Given the description of an element on the screen output the (x, y) to click on. 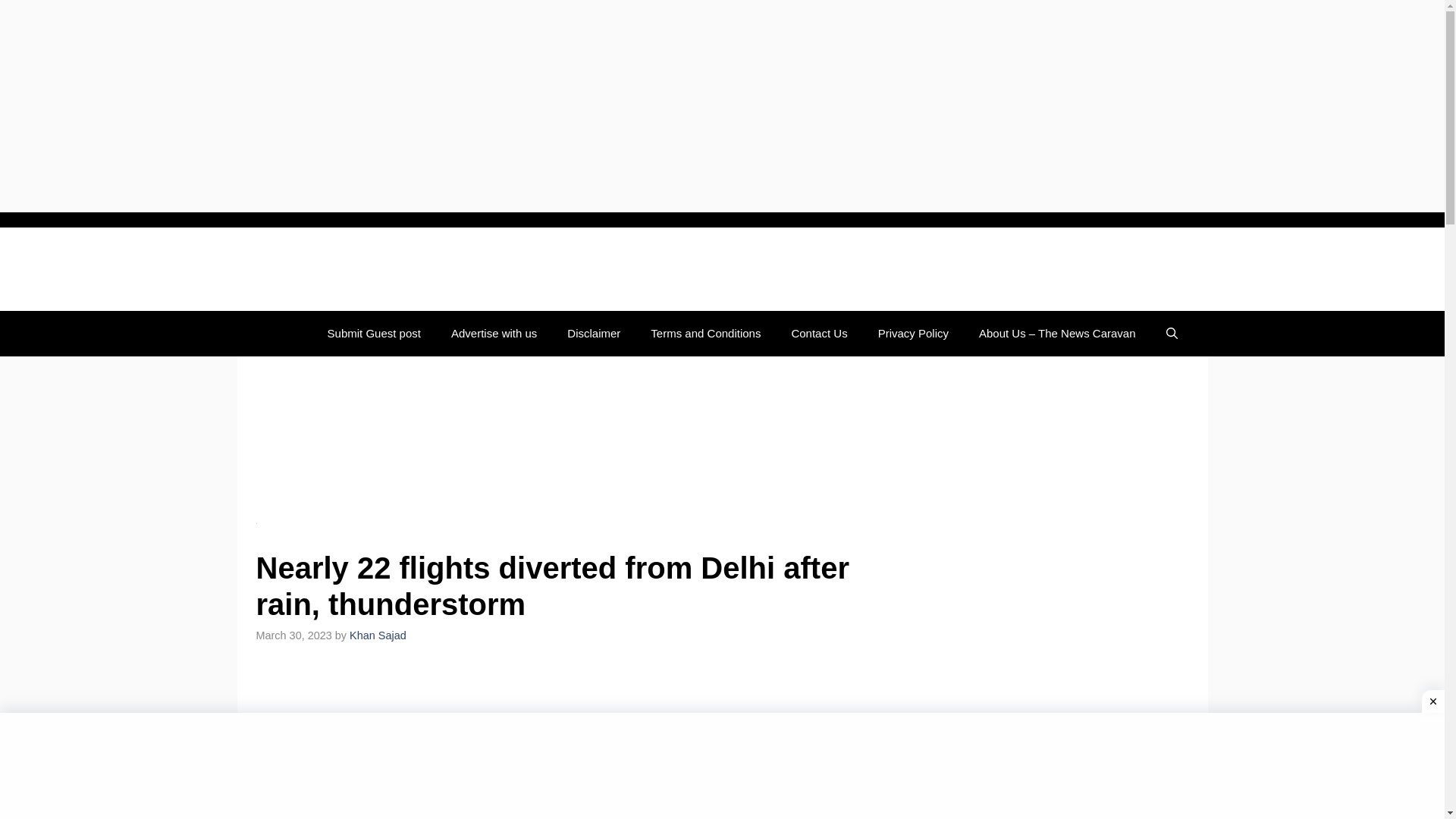
Khan Sajad (377, 635)
Privacy Policy (913, 333)
Advertisement (583, 438)
View all posts by Khan Sajad (377, 635)
Contact Us (818, 333)
Terms and Conditions (705, 333)
Advertisement (583, 744)
Submit Guest post (374, 333)
Disclaimer (592, 333)
